Given the description of an element on the screen output the (x, y) to click on. 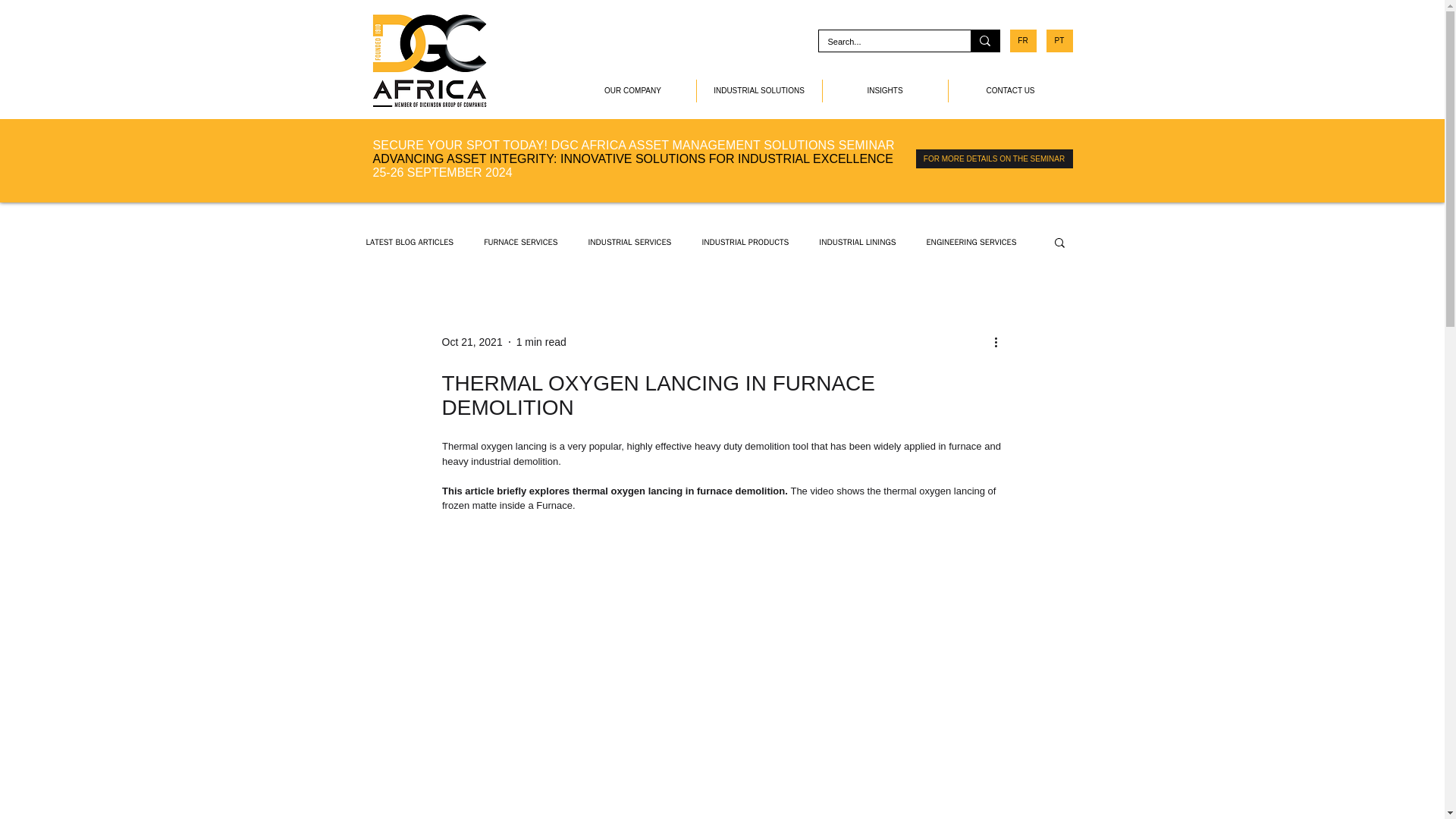
PT (1059, 40)
FURNACE SERVICES (520, 242)
INDUSTRIAL PRODUCTS (745, 242)
FOR MORE DETAILS ON THE SEMINAR (994, 158)
Oct 21, 2021 (471, 340)
CONTACT US (1010, 90)
INDUSTRIAL SOLUTIONS (758, 90)
INDUSTRIAL SERVICES (629, 242)
1 min read (541, 340)
LATEST BLOG ARTICLES (408, 242)
FR (1023, 40)
ricos-video (722, 585)
ENGINEERING SERVICES (971, 242)
INSIGHTS (884, 90)
INDUSTRIAL LININGS (856, 242)
